Given the description of an element on the screen output the (x, y) to click on. 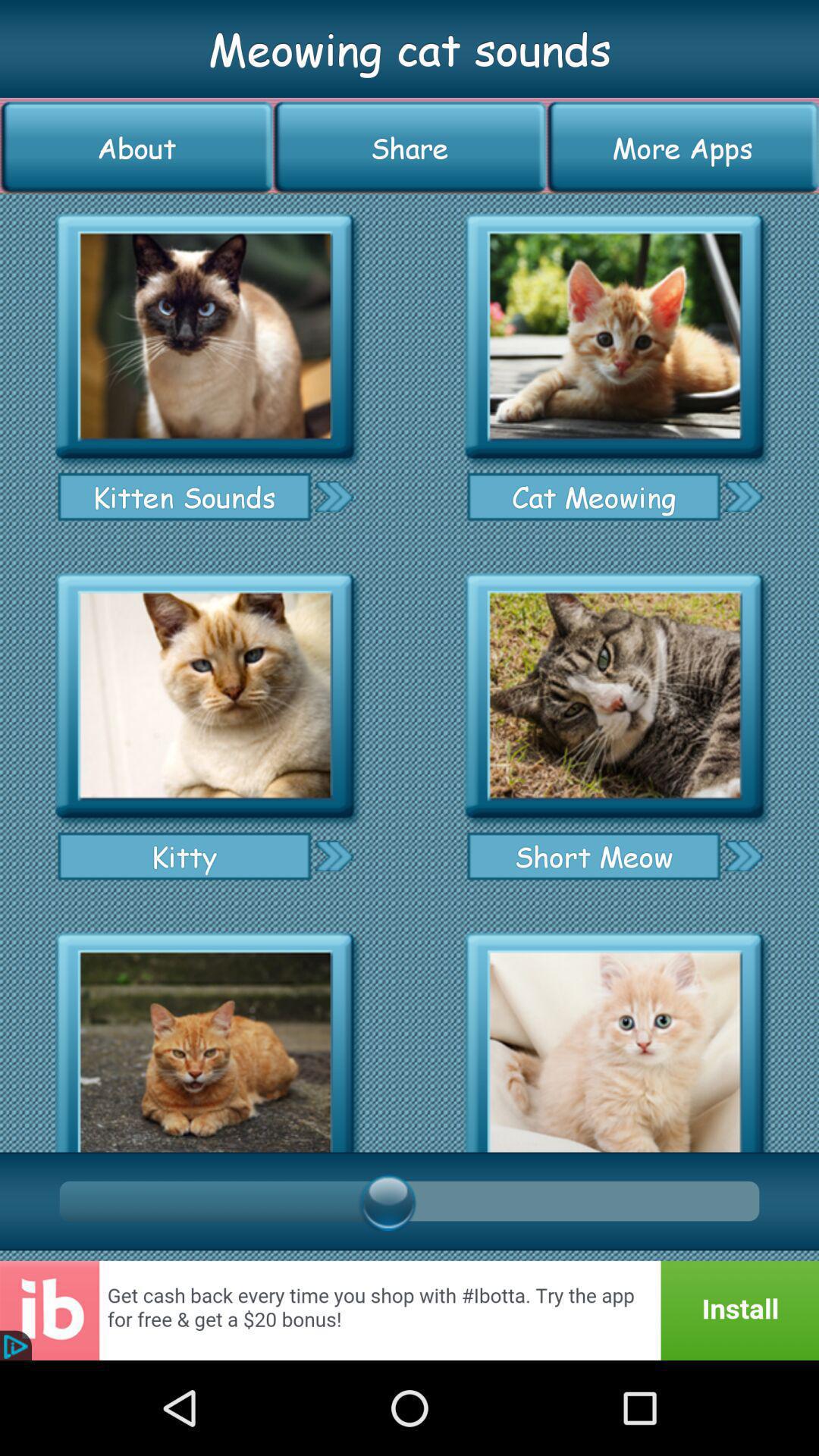
jump until kitten sounds button (184, 496)
